Given the description of an element on the screen output the (x, y) to click on. 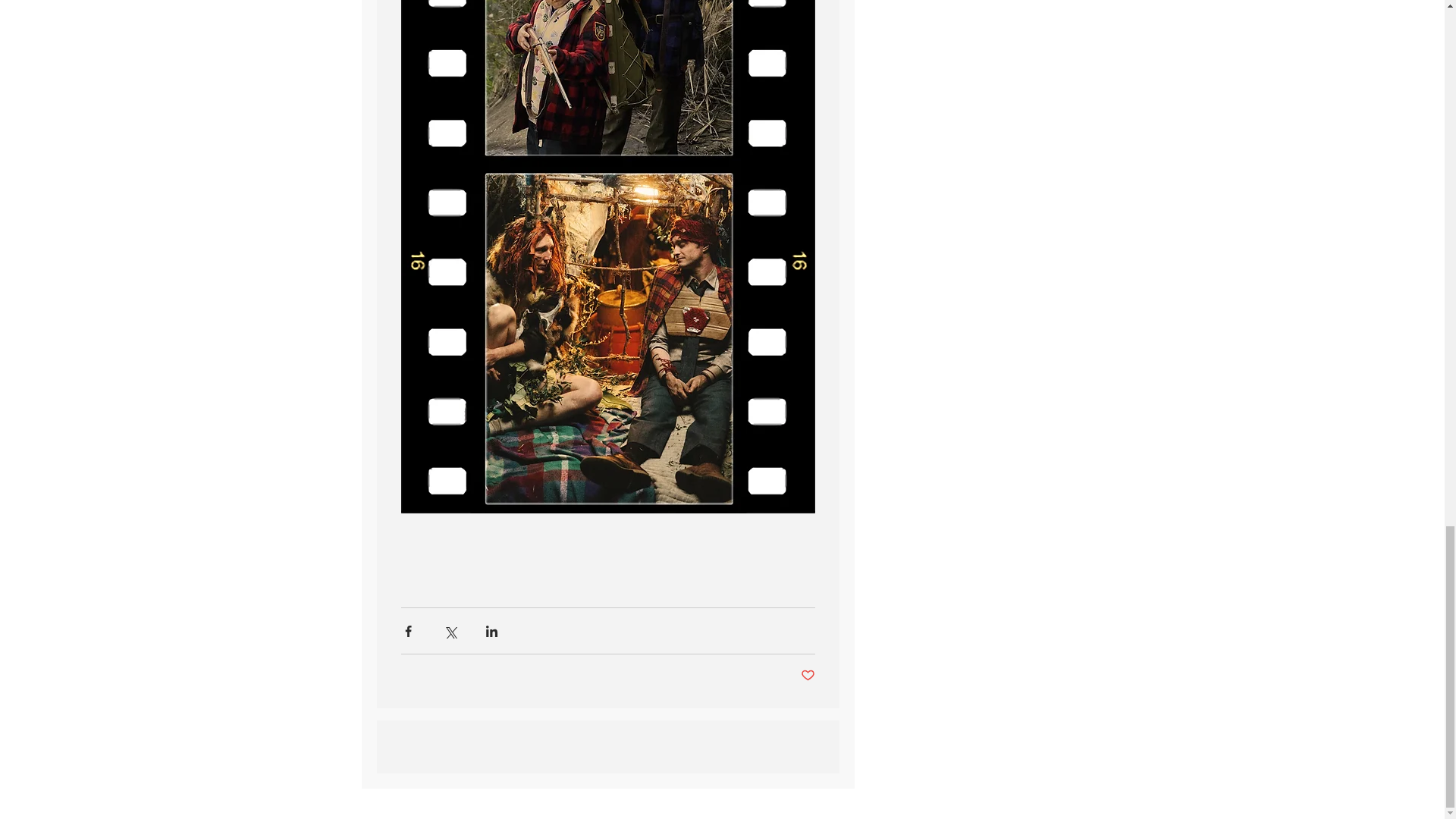
Post not marked as liked (807, 675)
